Given the description of an element on the screen output the (x, y) to click on. 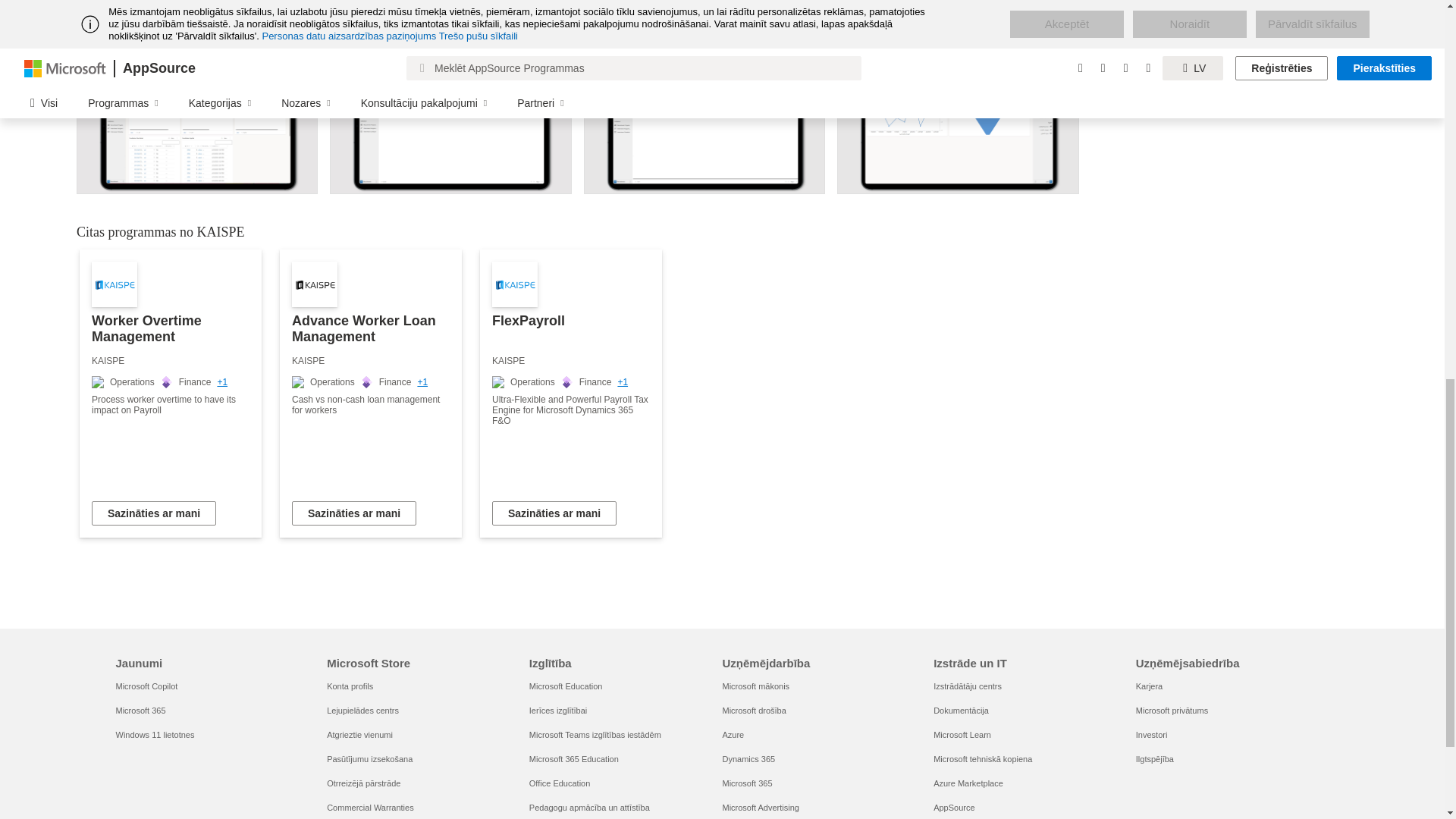
Worker Overtime Management (171, 393)
Microsoft 365 (140, 709)
Advance Worker Loan Management (370, 393)
FlexPayroll (571, 393)
Microsoft Copilot (146, 686)
